Given the description of an element on the screen output the (x, y) to click on. 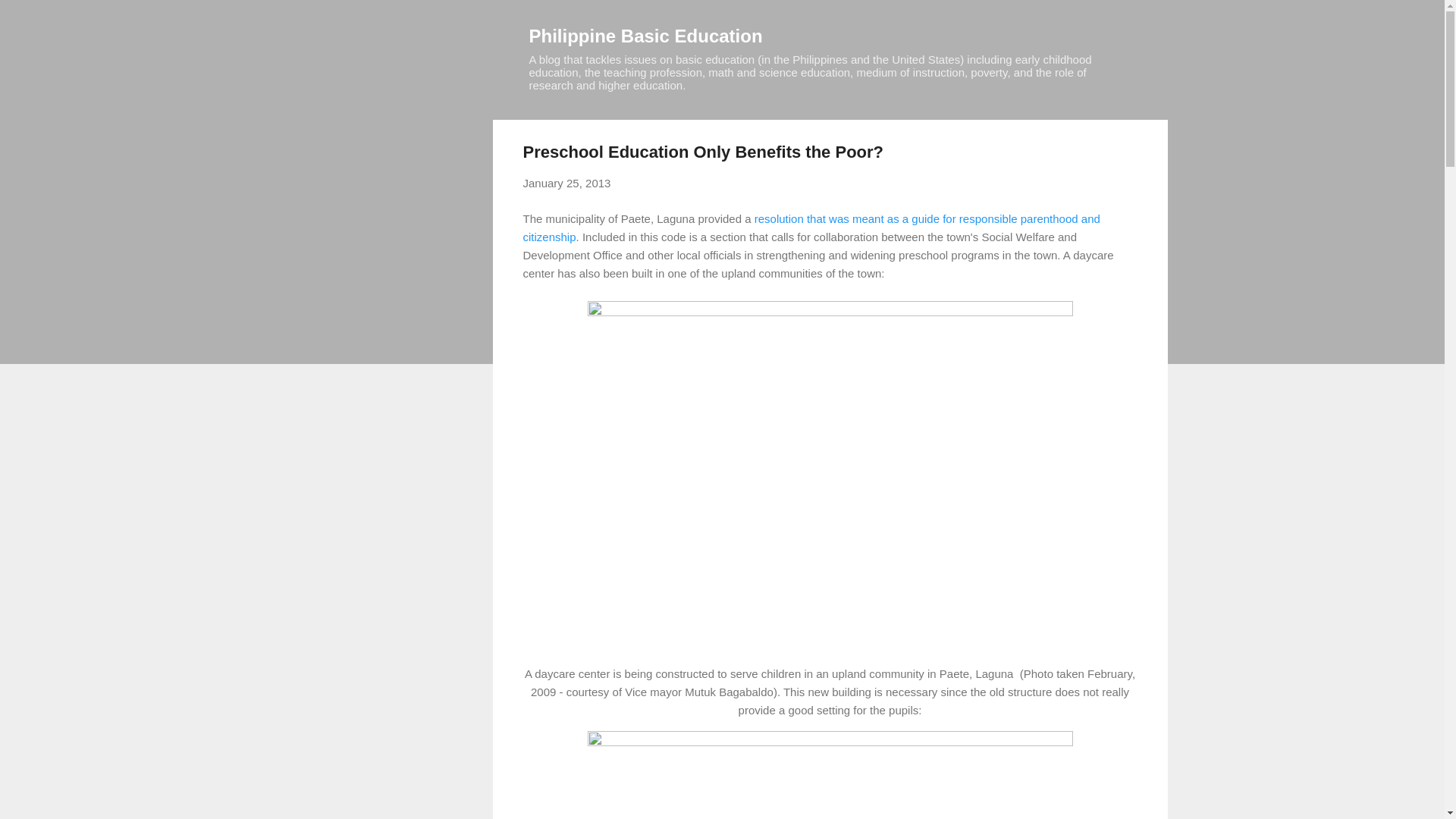
Search (29, 18)
January 25, 2013 (566, 182)
permanent link (566, 182)
Philippine Basic Education (645, 35)
